Given the description of an element on the screen output the (x, y) to click on. 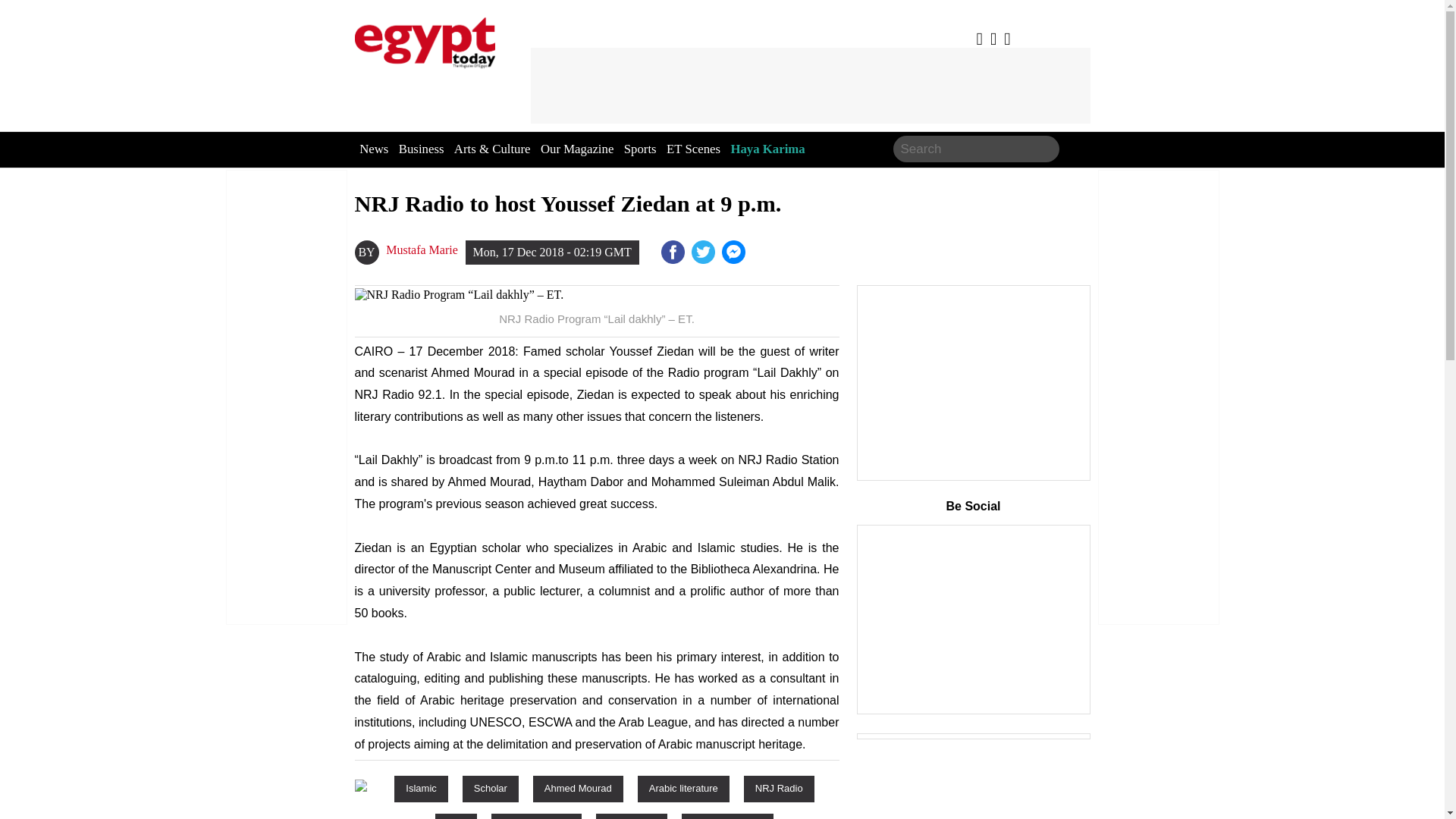
ET Scenes (693, 149)
Mustafa Marie (421, 250)
Sisi heads to Guinea first destination in overseas tour (735, 251)
Our Magazine (576, 149)
Ahmed Mourad (577, 787)
Sports (640, 149)
Youssef Ziedan (536, 816)
Islamic (420, 787)
NRJ Radio (778, 787)
Arabic literature (683, 787)
